Given the description of an element on the screen output the (x, y) to click on. 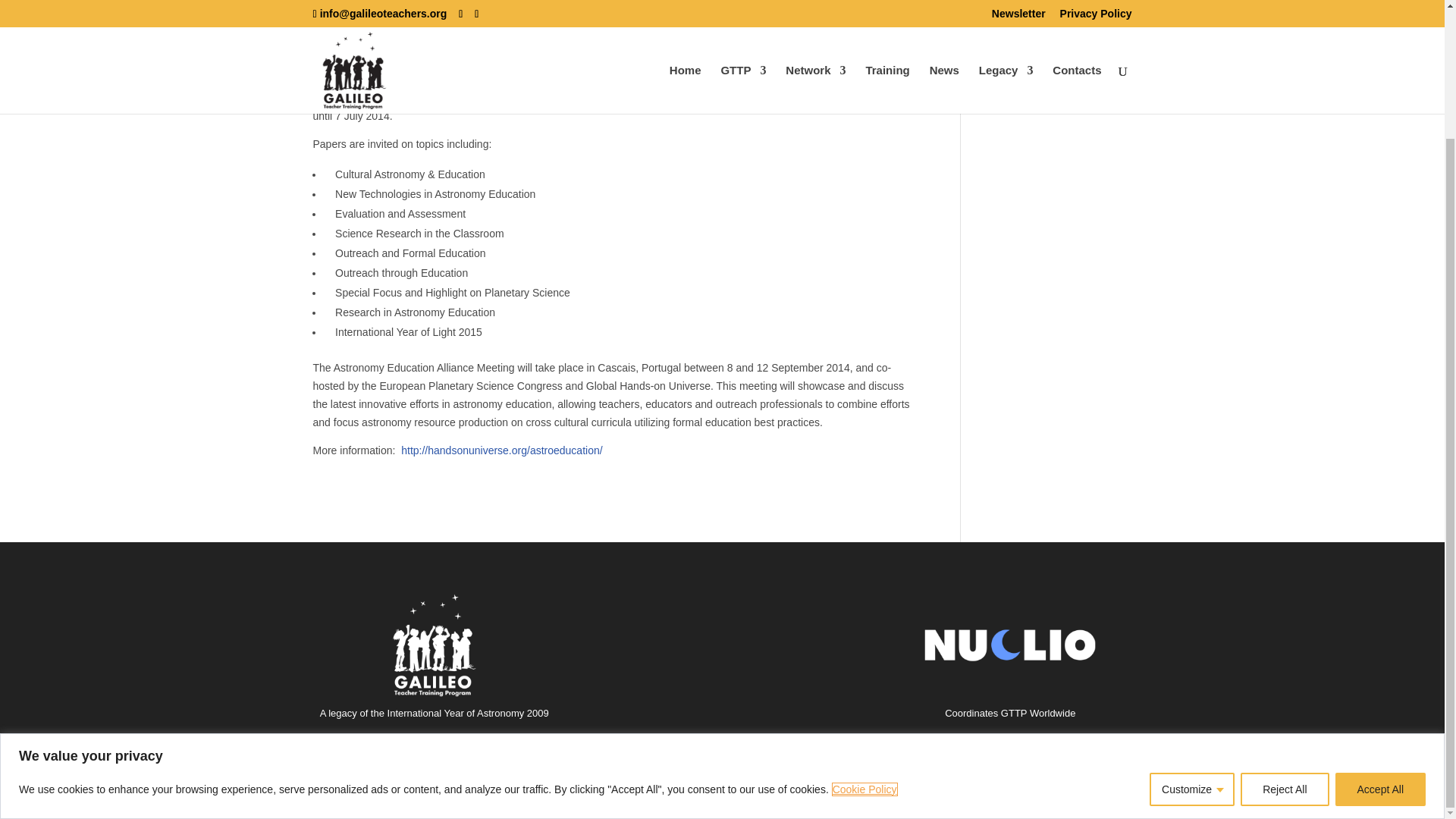
Accept All (1380, 633)
Reject All (1283, 633)
Customize (1192, 633)
Cookie Policy (864, 633)
